Given the description of an element on the screen output the (x, y) to click on. 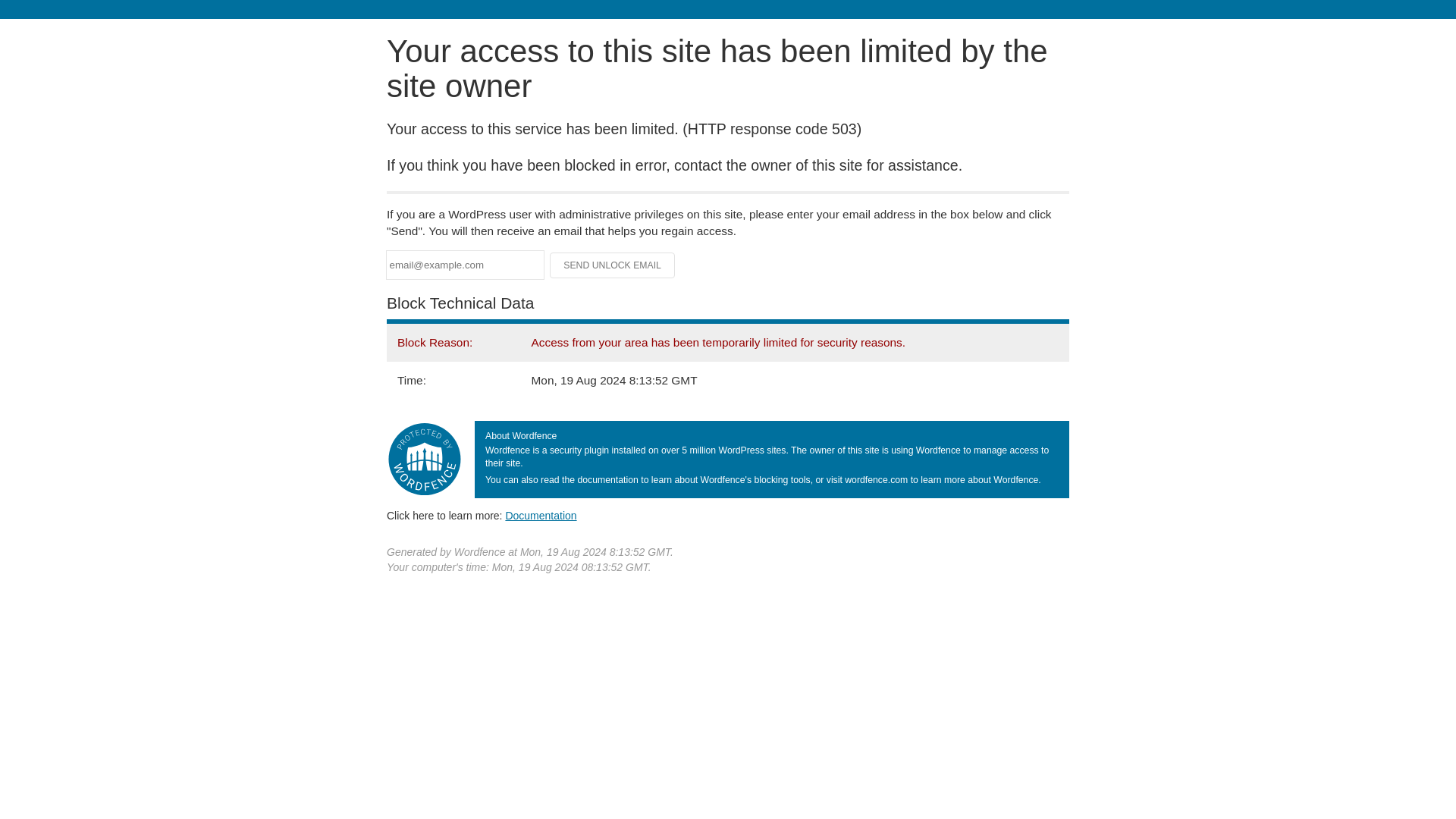
Documentation (540, 515)
Send Unlock Email (612, 265)
Send Unlock Email (612, 265)
